Given the description of an element on the screen output the (x, y) to click on. 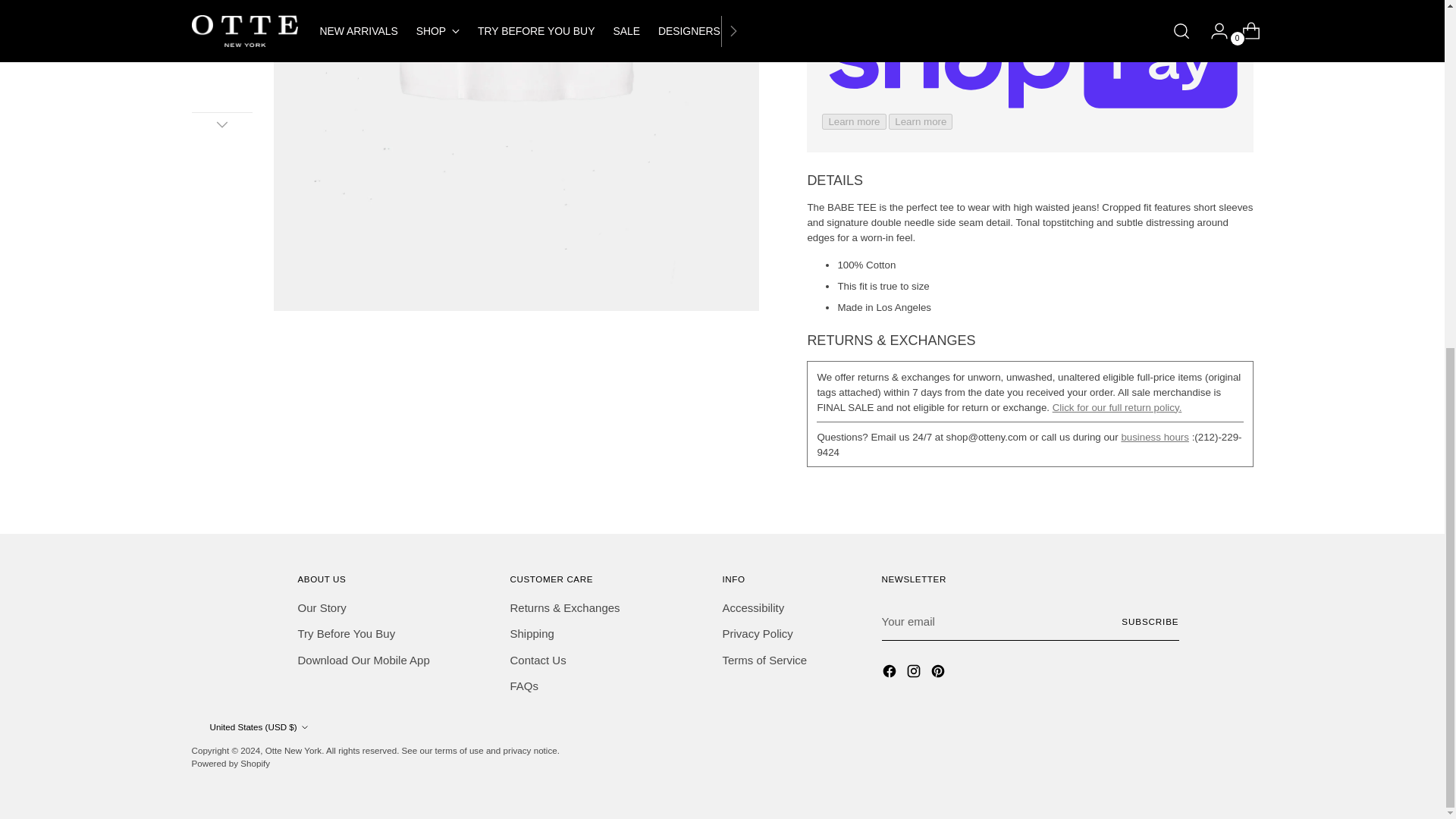
Otte New York on Instagram (914, 673)
Down (220, 124)
